Given the description of an element on the screen output the (x, y) to click on. 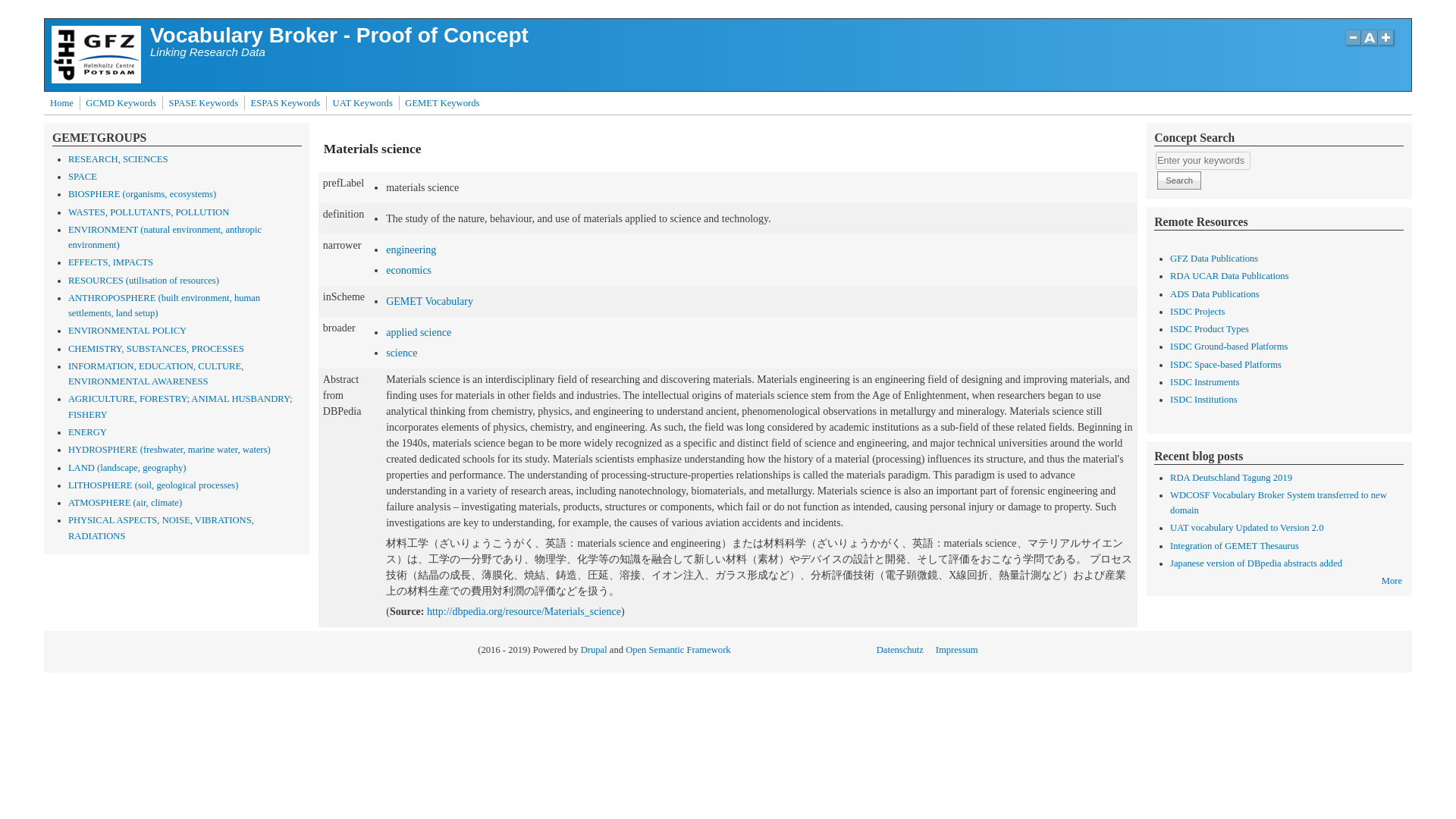
applied science (418, 332)
ESPAS Keywords (285, 102)
RDA UCAR Data Publications (1229, 276)
Home (338, 34)
UAT Keywords (363, 102)
Home (95, 79)
SPASE Keywords (203, 102)
AGRICULTURE, FORESTRY; ANIMAL HUSBANDRY; FISHERY (180, 406)
economics (407, 270)
EFFECTS, IMPACTS (110, 262)
